Given the description of an element on the screen output the (x, y) to click on. 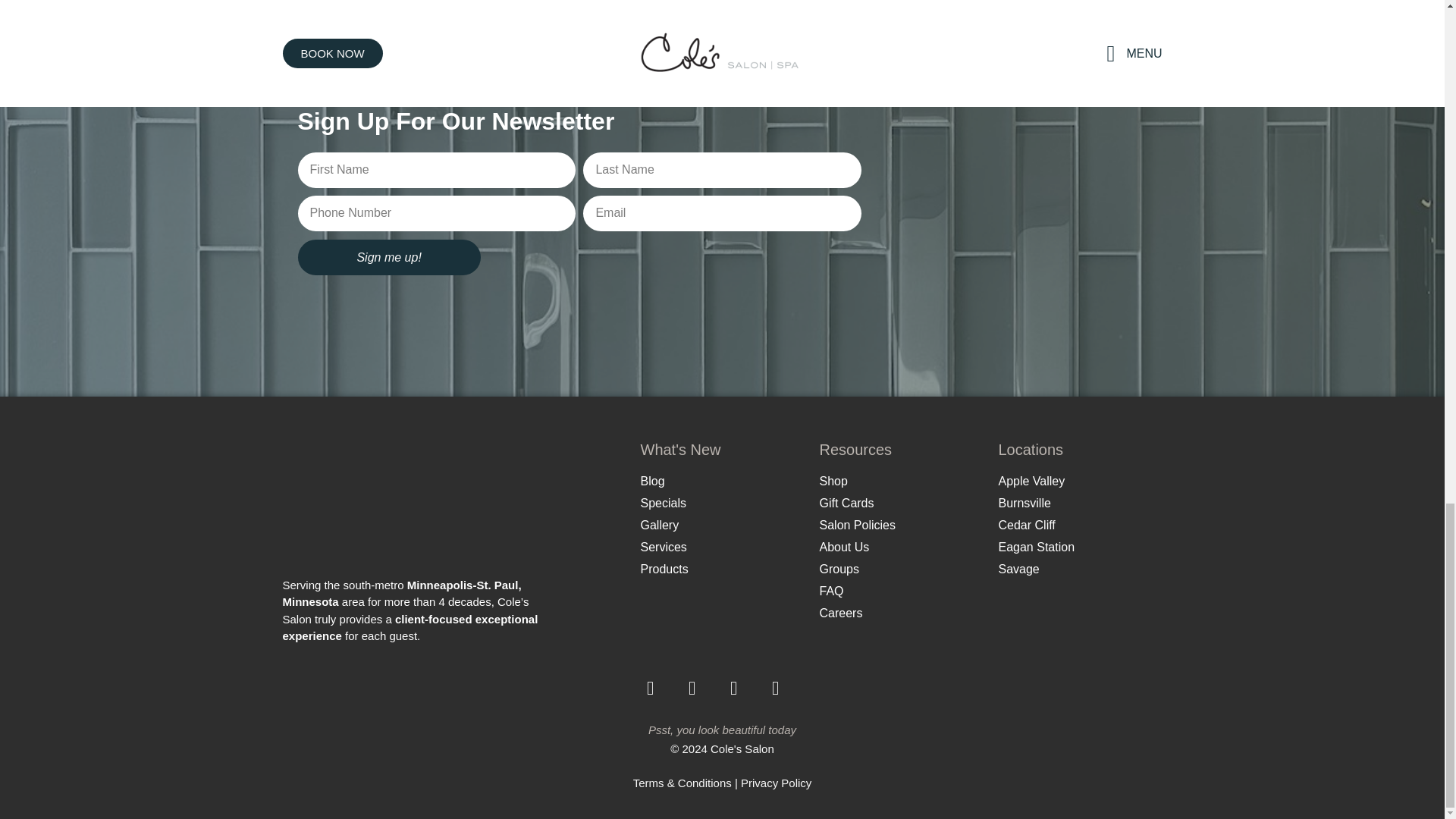
logged in (400, 4)
Services (721, 547)
Sign me up! (388, 257)
Shop (900, 481)
Apple Valley (1079, 481)
Blog (721, 481)
Groups (900, 569)
FAQ (900, 591)
Salon Policies (900, 525)
Gift Cards (900, 503)
About Us (900, 547)
Gallery (721, 525)
Specials (721, 503)
Products (721, 569)
Careers (900, 613)
